Given the description of an element on the screen output the (x, y) to click on. 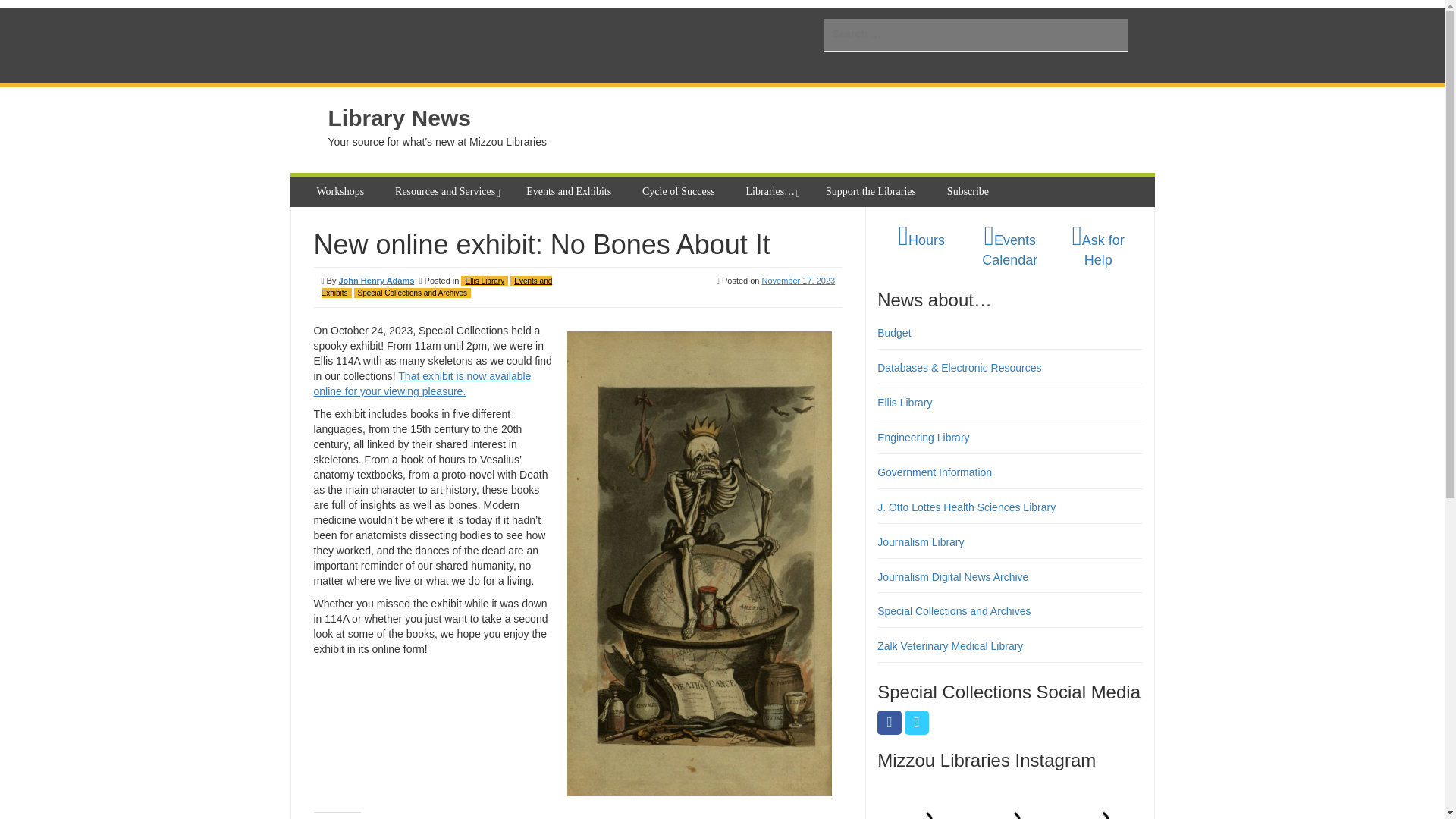
Special Collections and Archives (412, 293)
Subscribe (969, 191)
Cycle of Success (680, 191)
Libraries, University of Missouri (444, 45)
Support the Libraries (872, 191)
Workshops (341, 191)
John Henry Adams (375, 280)
Resources and Services (446, 191)
November 17, 2023 (798, 280)
